Given the description of an element on the screen output the (x, y) to click on. 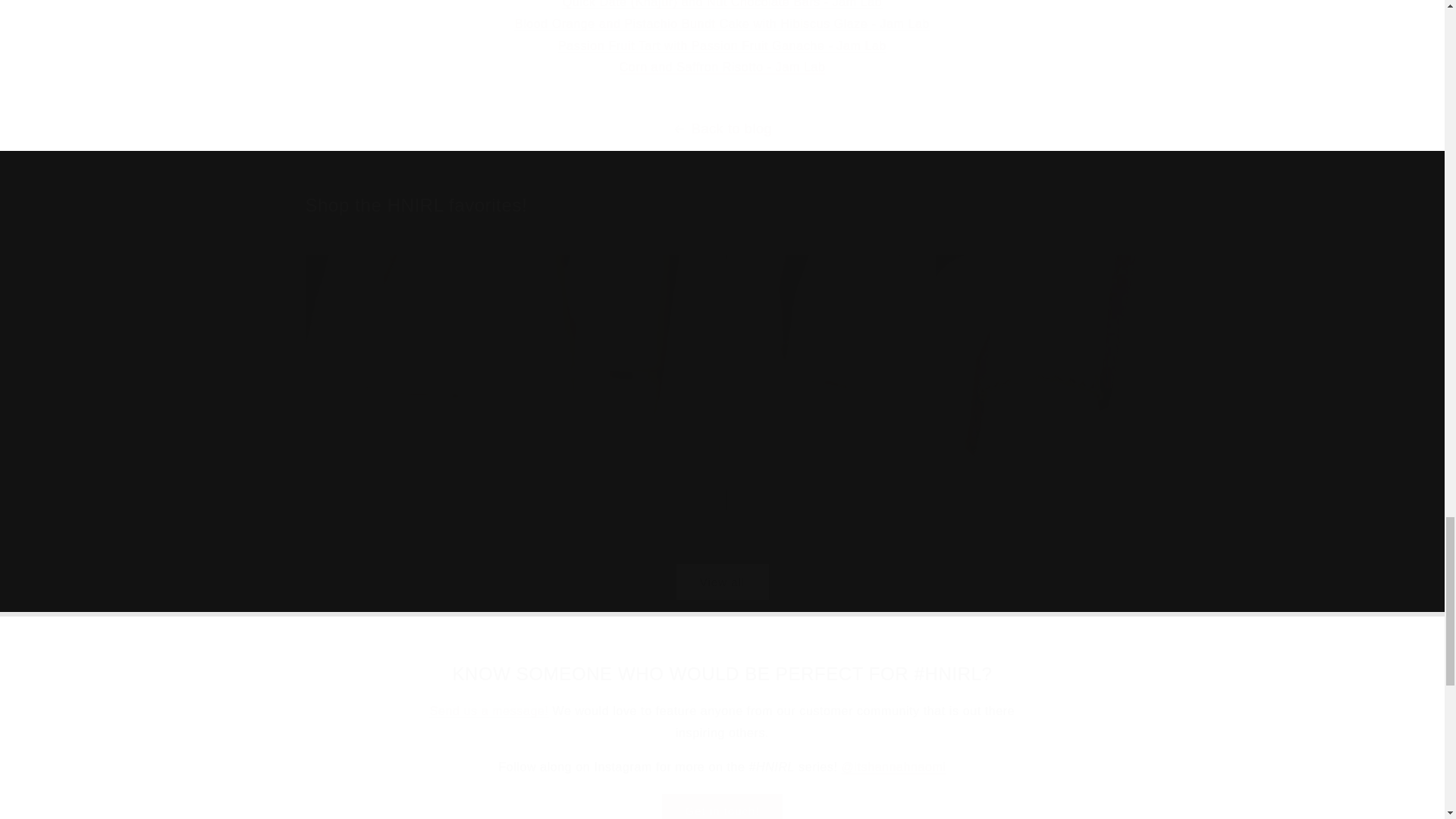
Contact (488, 710)
Get in touch! (722, 806)
Shop the HNIRL favorites! (721, 205)
